Given the description of an element on the screen output the (x, y) to click on. 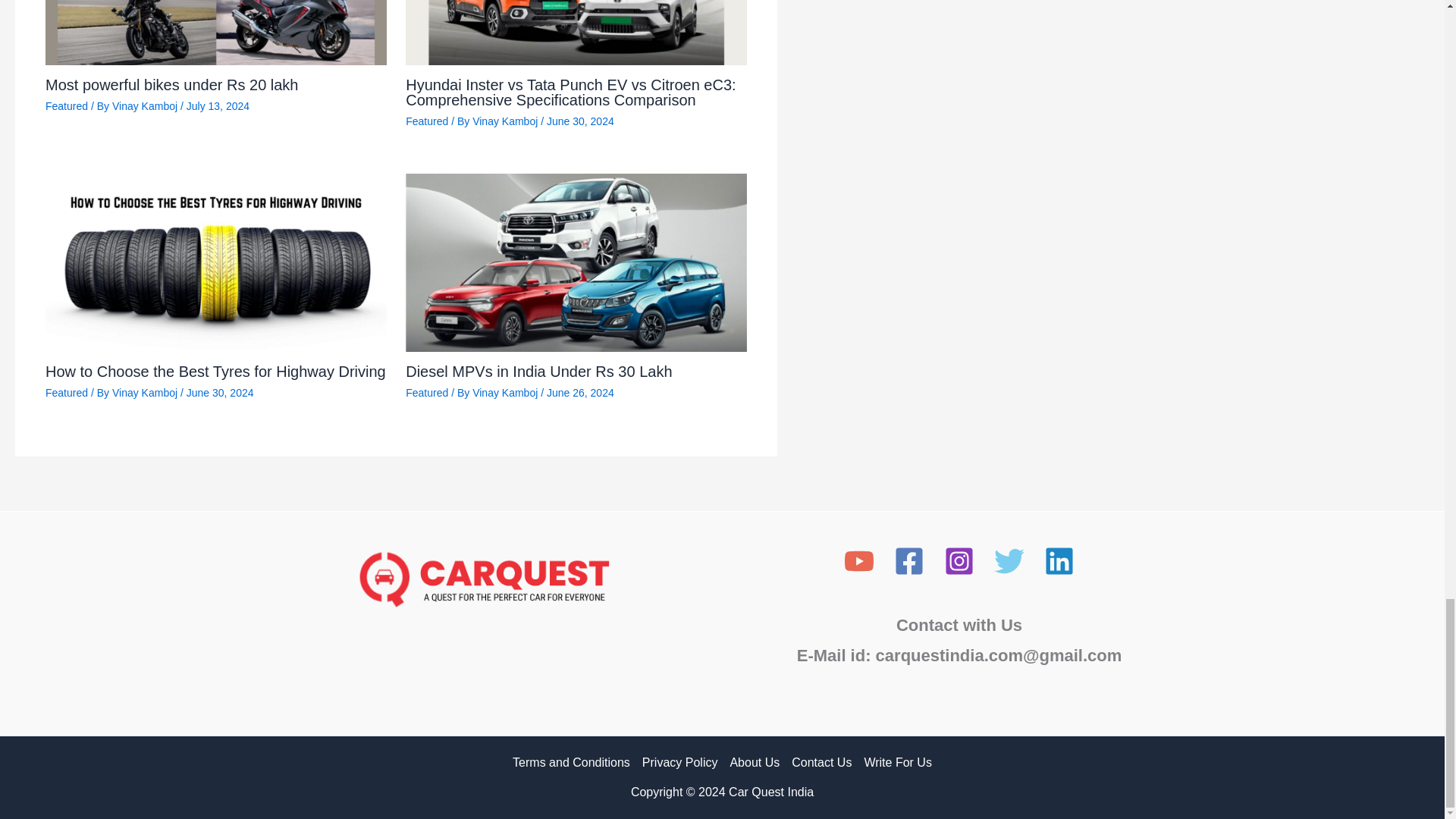
View all posts by Vinay Kamboj (146, 392)
View all posts by Vinay Kamboj (505, 392)
View all posts by Vinay Kamboj (505, 121)
Most powerful bikes under Rs 20 lakh (171, 84)
View all posts by Vinay Kamboj (146, 105)
Featured (66, 105)
Vinay Kamboj (146, 105)
